Given the description of an element on the screen output the (x, y) to click on. 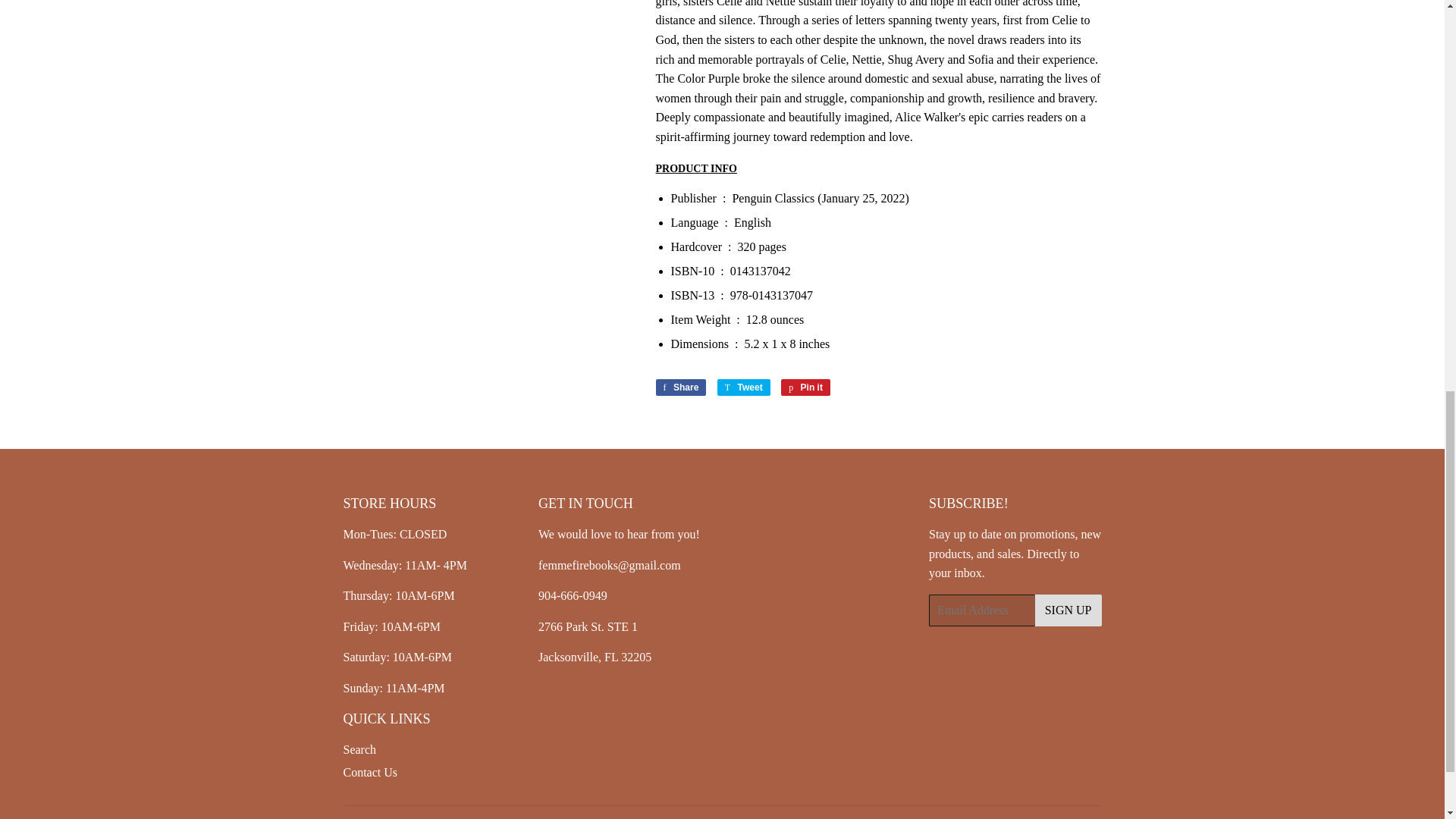
Tweet on Twitter (743, 387)
Share on Facebook (680, 387)
Pin on Pinterest (804, 387)
